Given the description of an element on the screen output the (x, y) to click on. 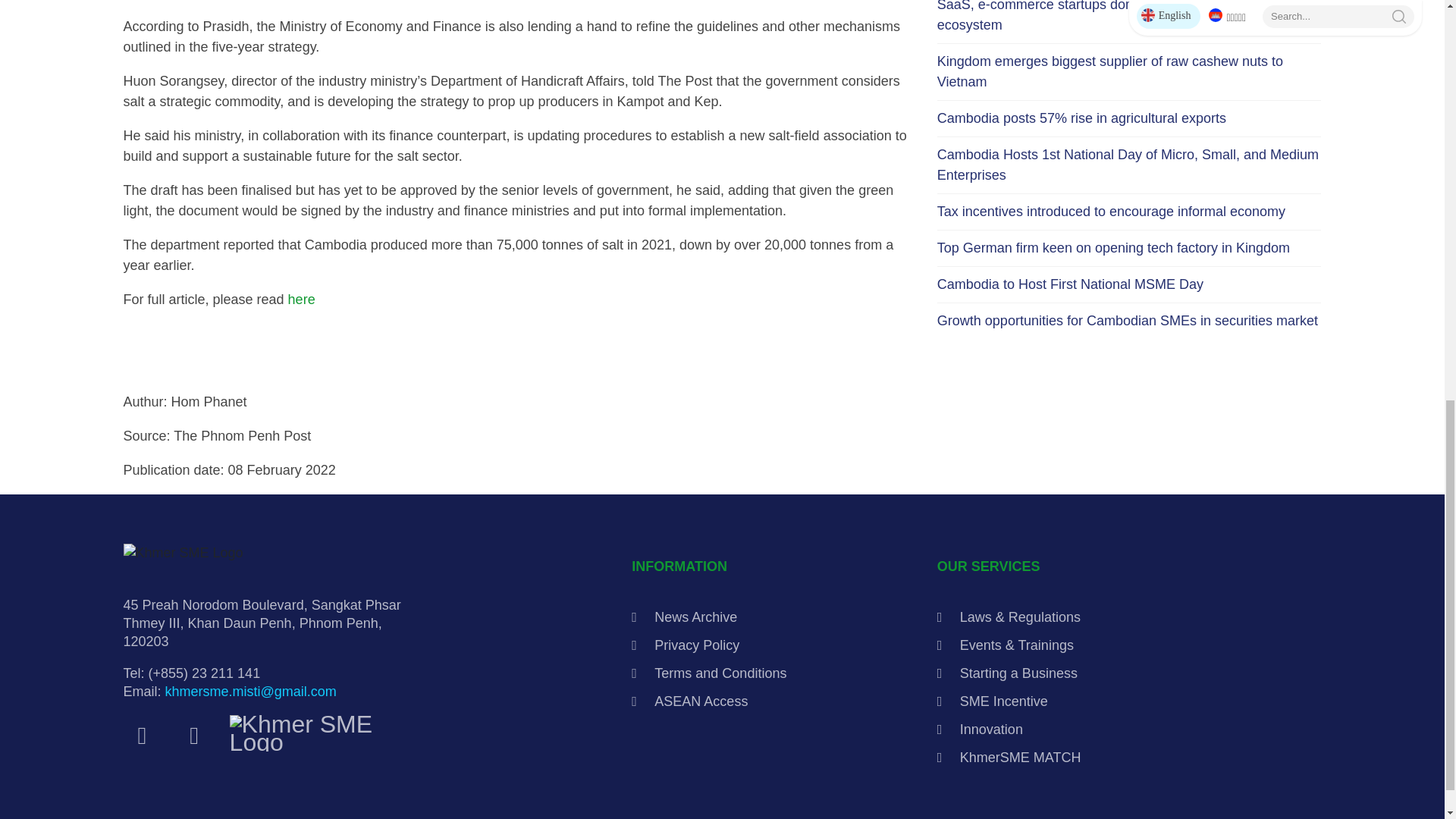
here (301, 299)
